Given the description of an element on the screen output the (x, y) to click on. 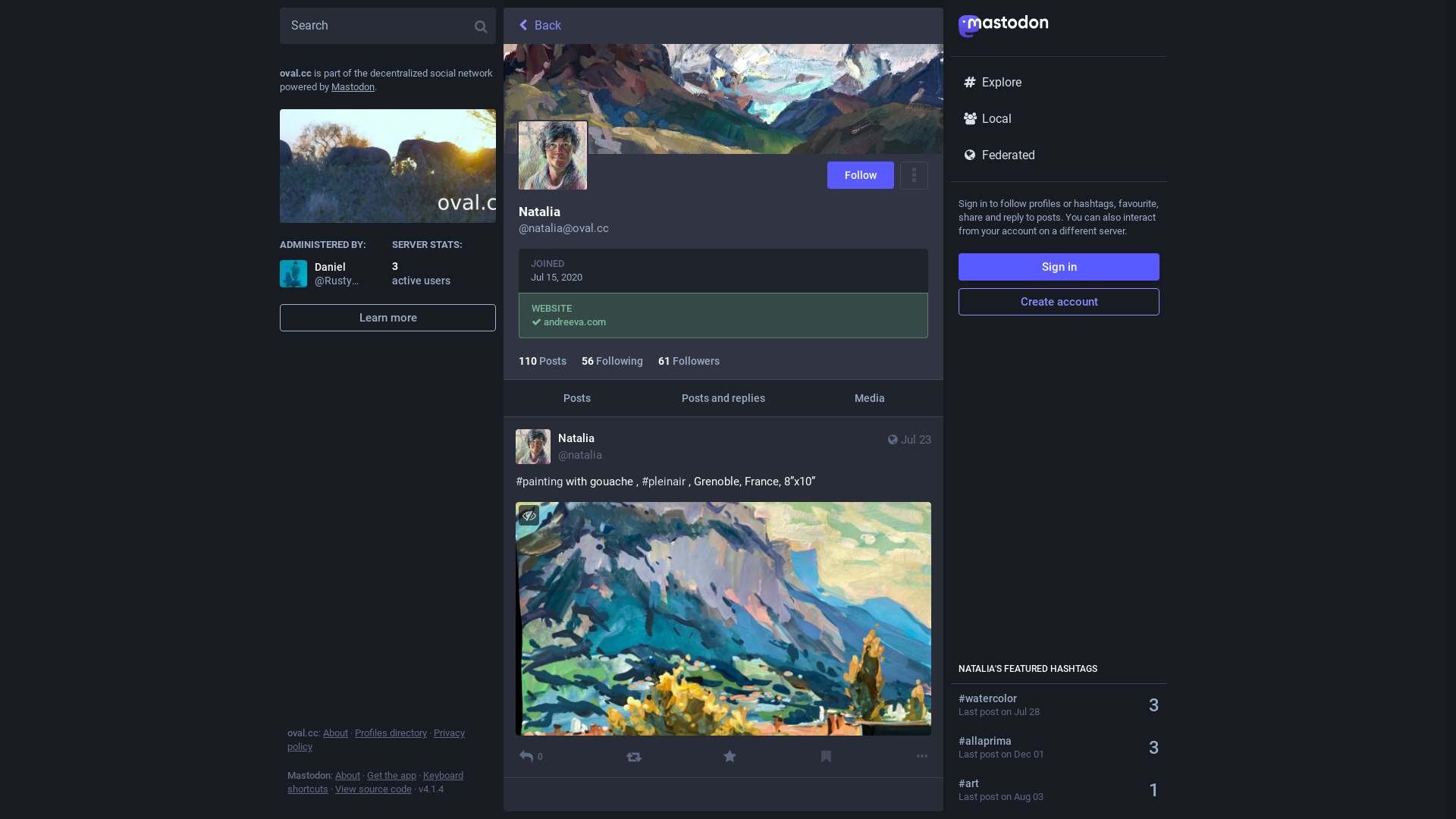
Natalia
@natalia Element type: text (558, 446)
Public Element type: hover (892, 439)
Ownership of this link was checked on Jul 22, 2020, 23:04 Element type: hover (536, 321)
Media Element type: text (870, 397)
Favourite Element type: hover (729, 756)
Hide image Element type: hover (528, 515)
Mastodon Element type: text (352, 86)
Privacy policy Element type: text (375, 739)
Learn more Element type: text (387, 317)
Explore Element type: text (1058, 82)
About Element type: text (335, 732)
Back Element type: text (723, 25)
Posts and replies Element type: text (722, 397)
Create account Element type: text (1058, 301)
61 Followers Element type: text (688, 360)
56 Following Element type: text (612, 360)
#art Element type: text (1047, 783)
Follow Element type: text (860, 174)
About Element type: text (347, 775)
Daniel
@RustyBamboo Element type: text (320, 273)
#painting Element type: text (538, 481)
Get the app Element type: text (391, 775)
Menu Element type: hover (914, 175)
Sign in Element type: text (1058, 266)
Jul 23 Element type: text (907, 446)
#allaprima Element type: text (1047, 740)
#watercolor Element type: text (1047, 698)
0 Element type: text (530, 756)
Profiles directory Element type: text (390, 732)
Posts Element type: text (576, 397)
Boost Element type: hover (633, 756)
Local Element type: text (1058, 118)
More Element type: hover (922, 756)
View source code Element type: text (373, 788)
https://www.
andreeva.com Element type: text (574, 321)
Federated Element type: text (1058, 155)
#pleinair Element type: text (663, 481)
Keyboard shortcuts Element type: text (375, 781)
Bookmark Element type: hover (825, 756)
110 Posts Element type: text (542, 360)
